Given the description of an element on the screen output the (x, y) to click on. 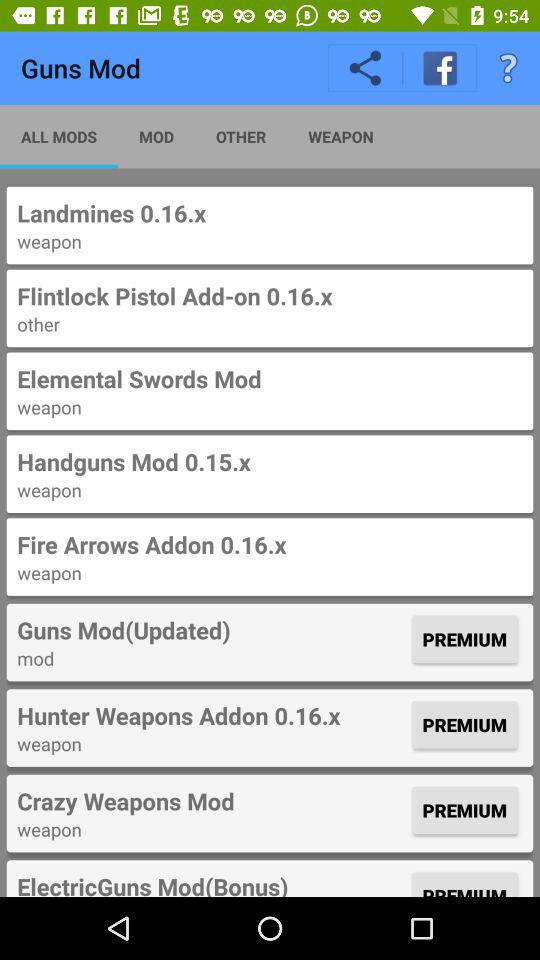
turn off the item to the left of premium item (211, 715)
